Given the description of an element on the screen output the (x, y) to click on. 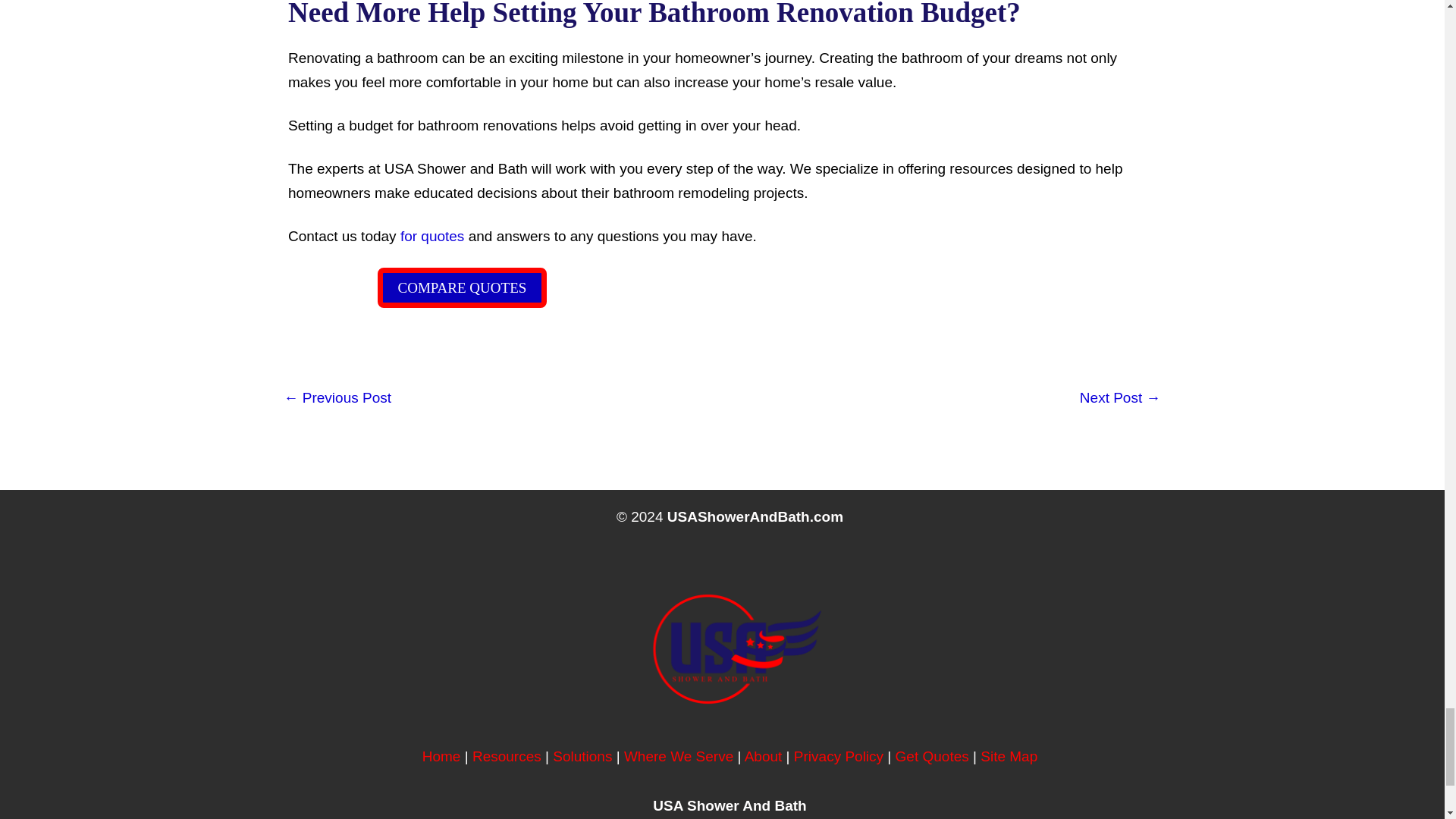
USA Shower And bath (441, 756)
Site Map (1007, 756)
About (763, 756)
Tub to Shower Conversion Cost (1120, 398)
Solutions (582, 756)
23 Amazing Bathroom Remodeling Ideas in 2022 (337, 398)
Get Quotes (932, 756)
Privacy Policy (838, 756)
Where We Serve (678, 756)
Resources (506, 756)
